Given the description of an element on the screen output the (x, y) to click on. 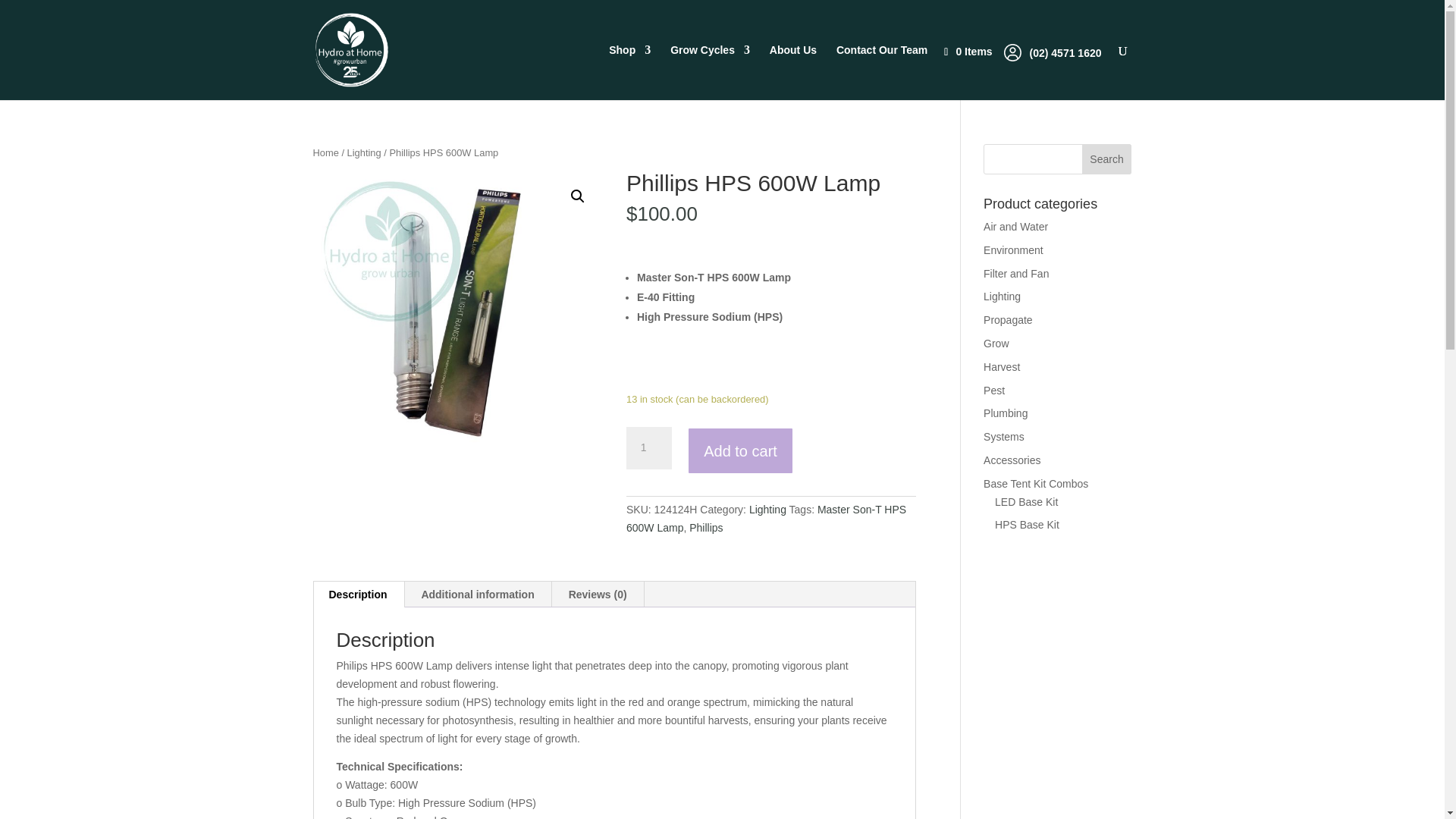
About Us (793, 72)
Shop (629, 72)
Search (1106, 159)
Lighting (364, 152)
Contact Our Team (881, 72)
0 Items (975, 51)
Home (325, 152)
1 (648, 447)
124124 (457, 316)
Grow Cycles (709, 72)
